Given the description of an element on the screen output the (x, y) to click on. 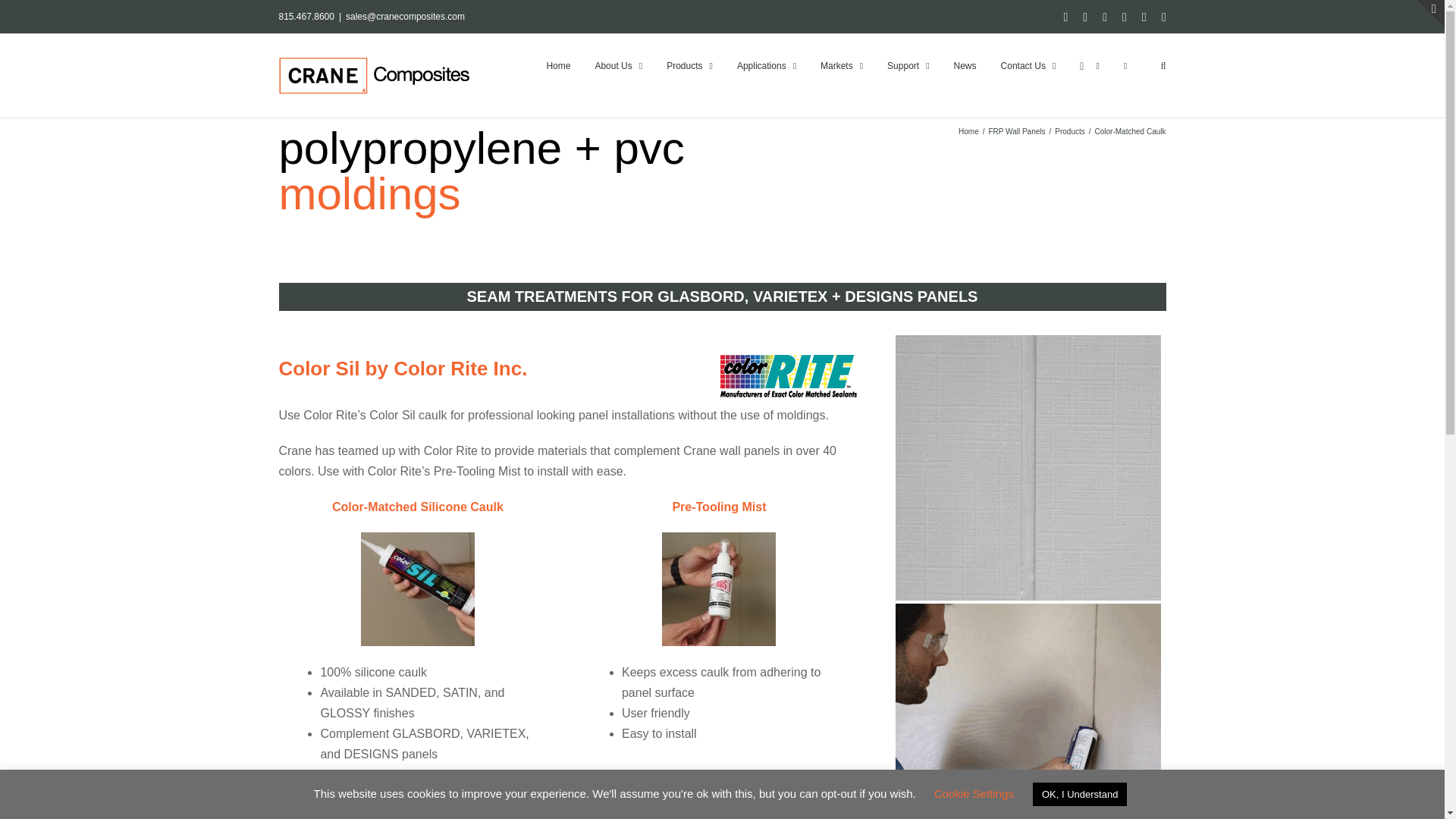
Accessories (1027, 711)
Applications (766, 65)
Caulk (1027, 467)
